Given the description of an element on the screen output the (x, y) to click on. 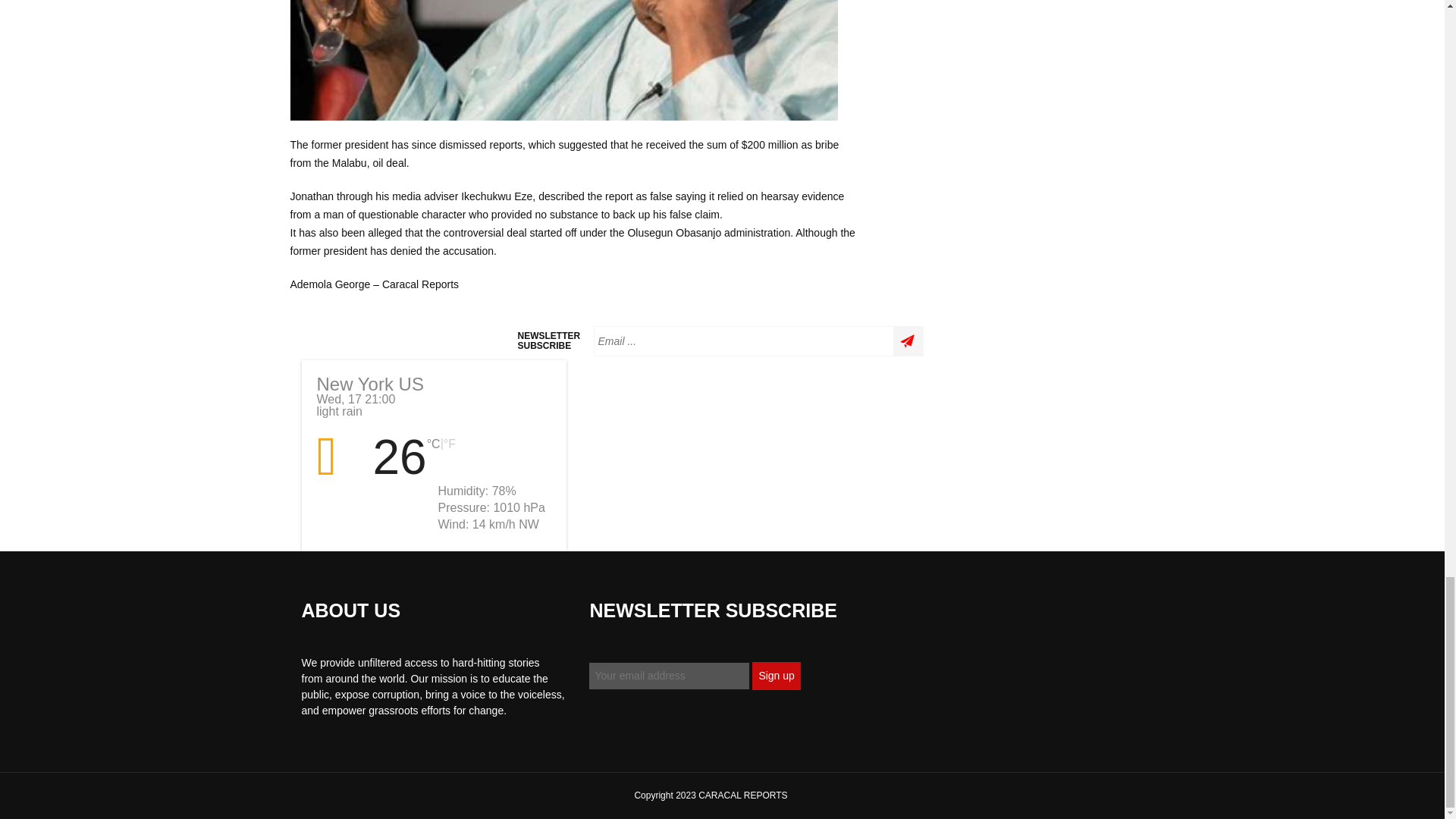
light rain (341, 457)
Sign up (775, 675)
